Given the description of an element on the screen output the (x, y) to click on. 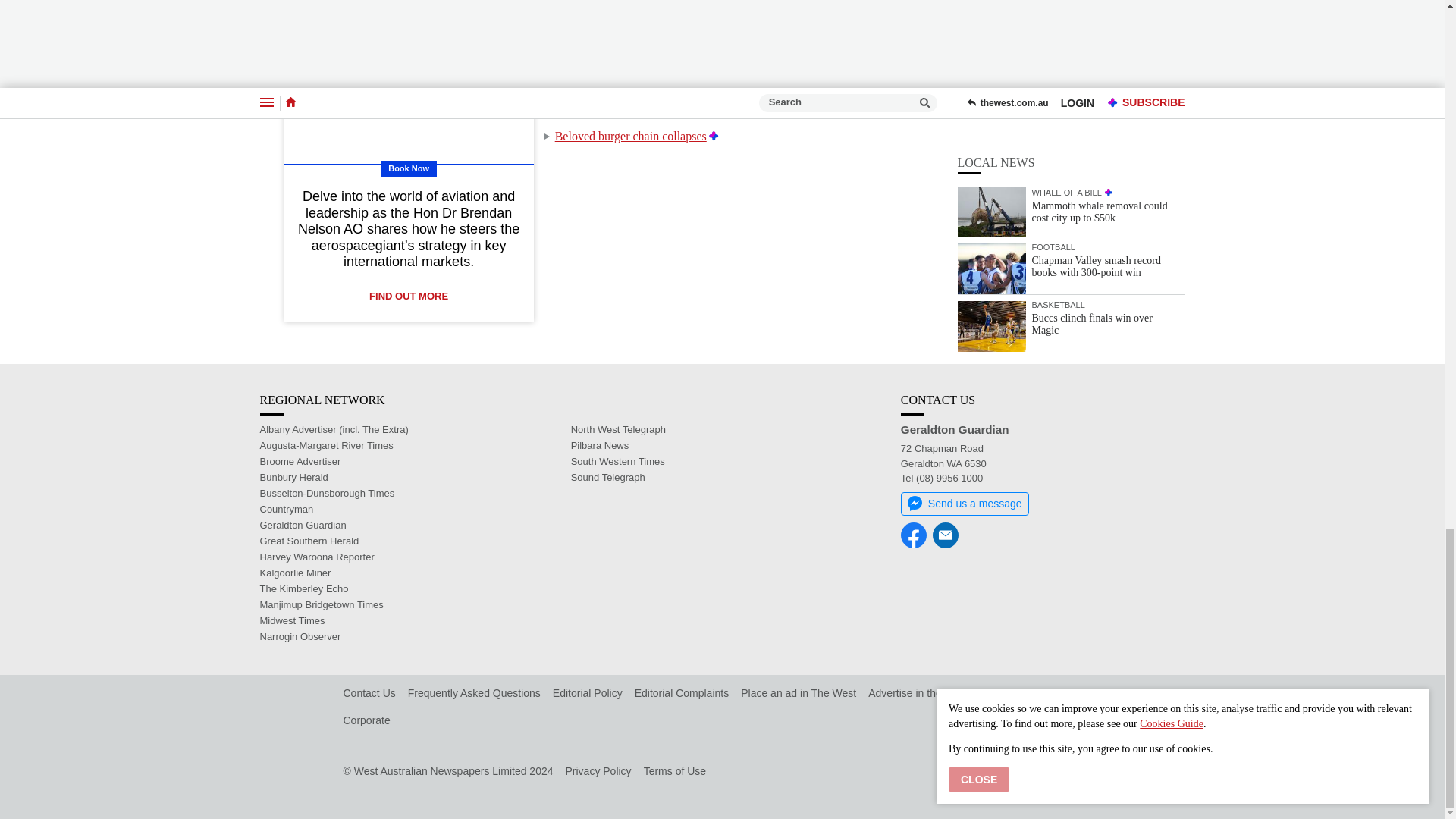
Premium (764, 62)
Premium (818, 38)
Premium (713, 135)
